Given the description of an element on the screen output the (x, y) to click on. 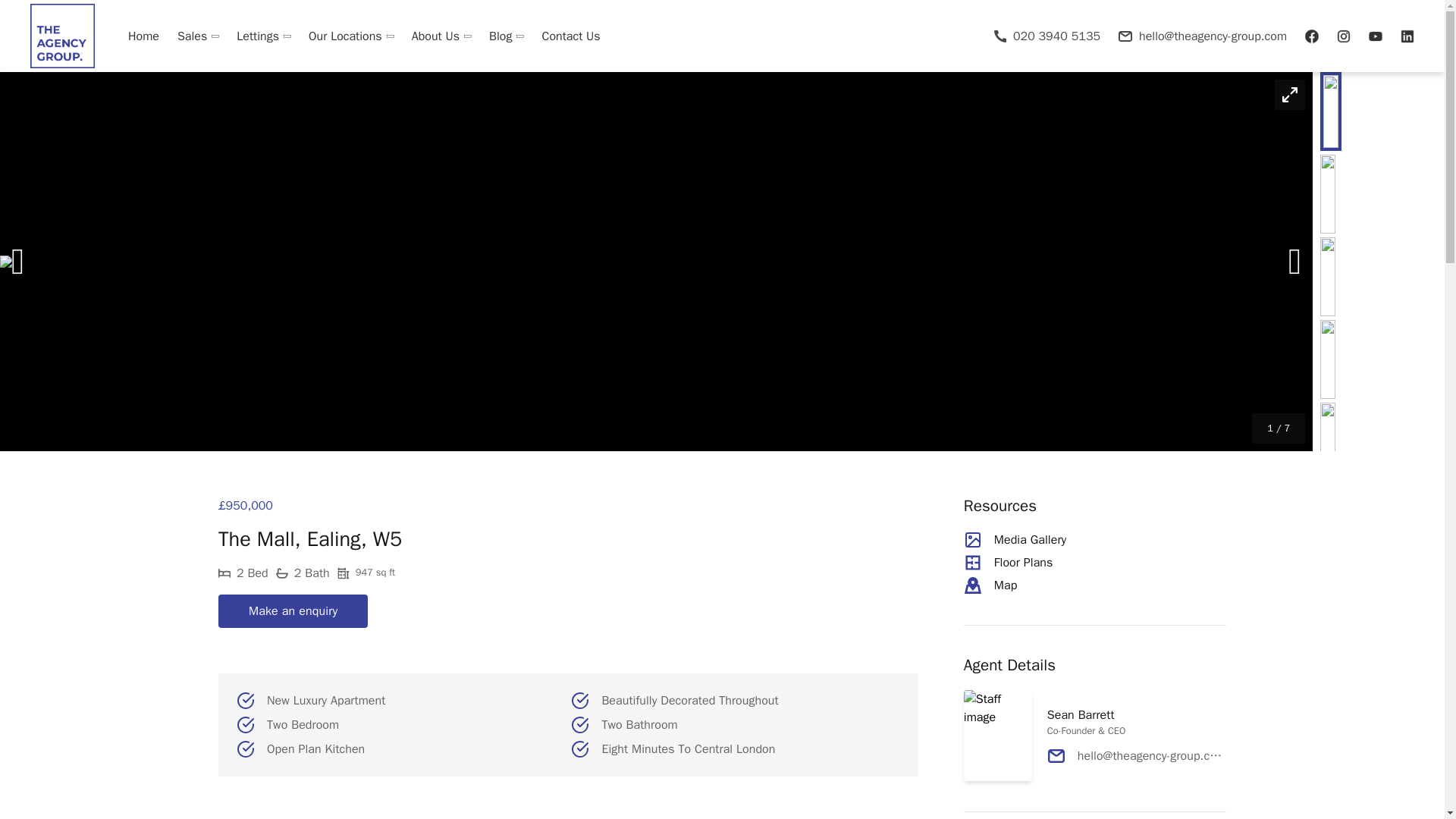
Contact Us (565, 36)
Make an enquiry (292, 611)
020 3940 5135 (1047, 35)
Make an enquiry (293, 611)
Home (143, 36)
Build Area (365, 573)
